Given the description of an element on the screen output the (x, y) to click on. 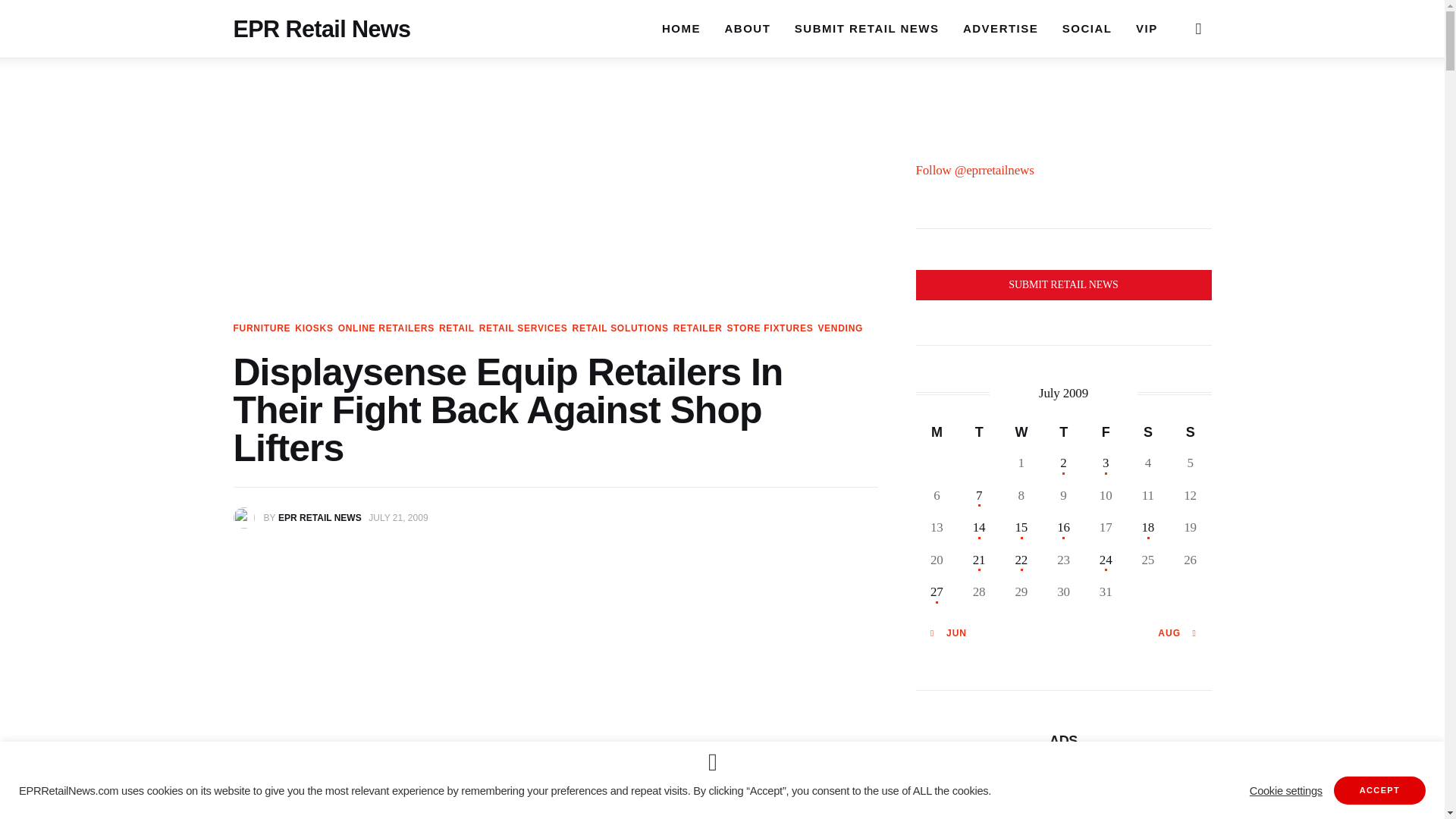
Submit Retail News (1063, 285)
Saturday (1147, 431)
Advertisement (1063, 804)
Tuesday (979, 431)
SOCIAL (1086, 28)
Monday (936, 431)
Friday (1105, 431)
ADVERTISE (999, 28)
EPR Retail News (321, 12)
HOME (681, 19)
Wednesday (1021, 431)
Sunday (1190, 431)
SUBMIT RETAIL NEWS (866, 28)
